Given the description of an element on the screen output the (x, y) to click on. 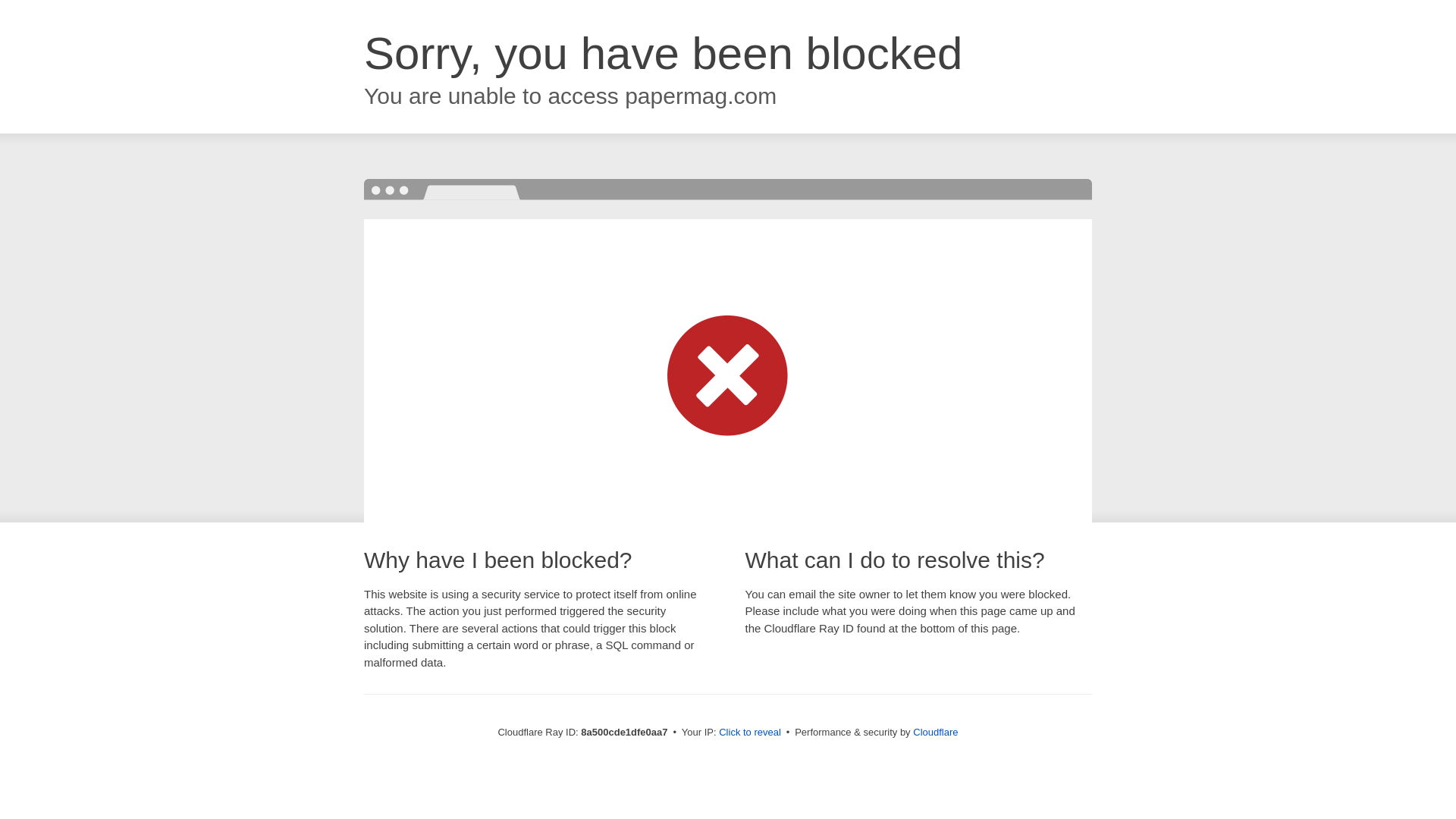
Cloudflare (935, 731)
Click to reveal (749, 732)
